Given the description of an element on the screen output the (x, y) to click on. 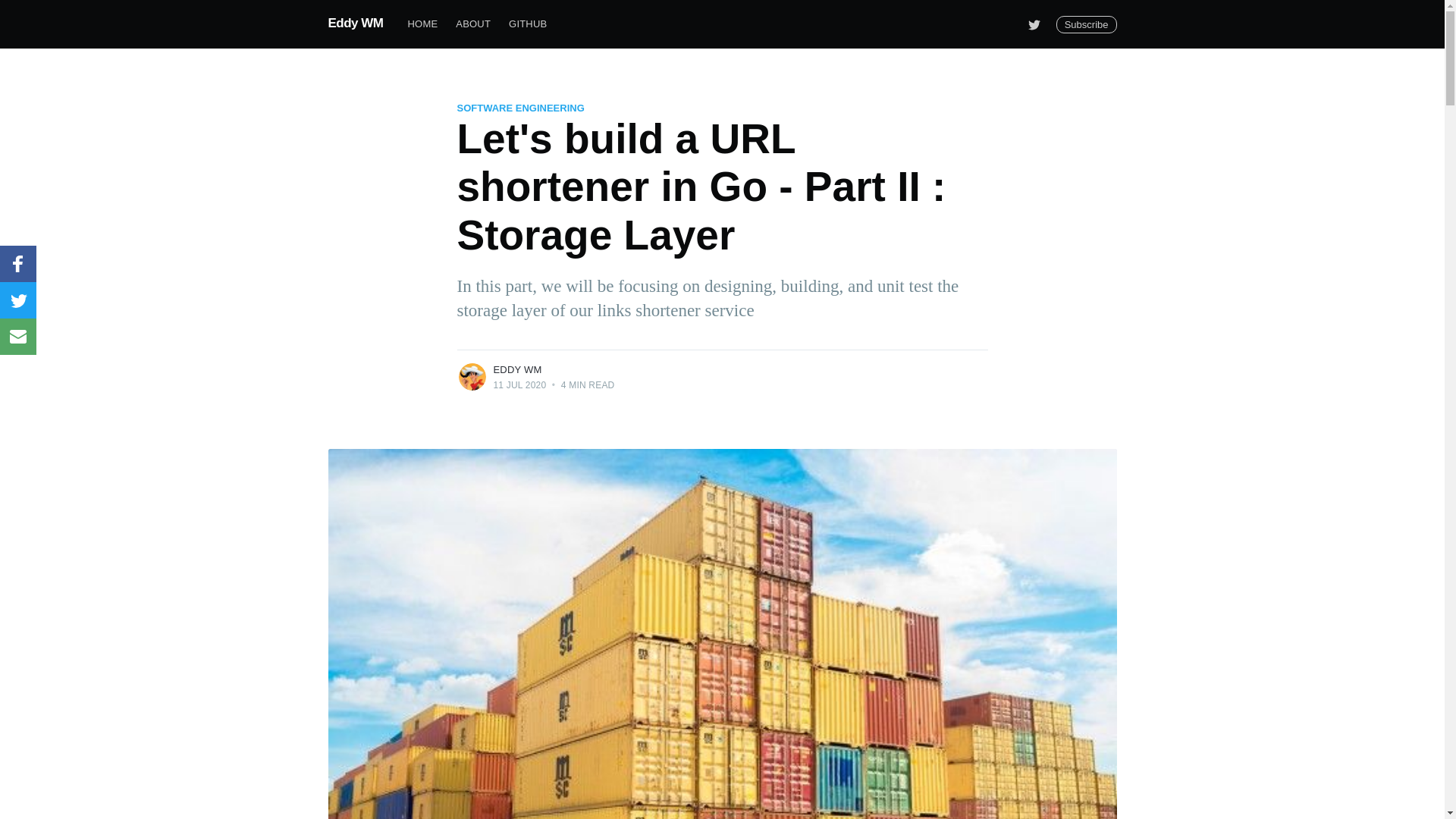
HOME (422, 24)
GITHUB (527, 24)
Share on Twitter (18, 299)
Share via Email (18, 336)
Eddy WM (354, 23)
ABOUT (472, 24)
Share on Facebook (18, 263)
SOFTWARE ENGINEERING (520, 108)
EDDY WM (517, 369)
Subscribe (1086, 23)
